Given the description of an element on the screen output the (x, y) to click on. 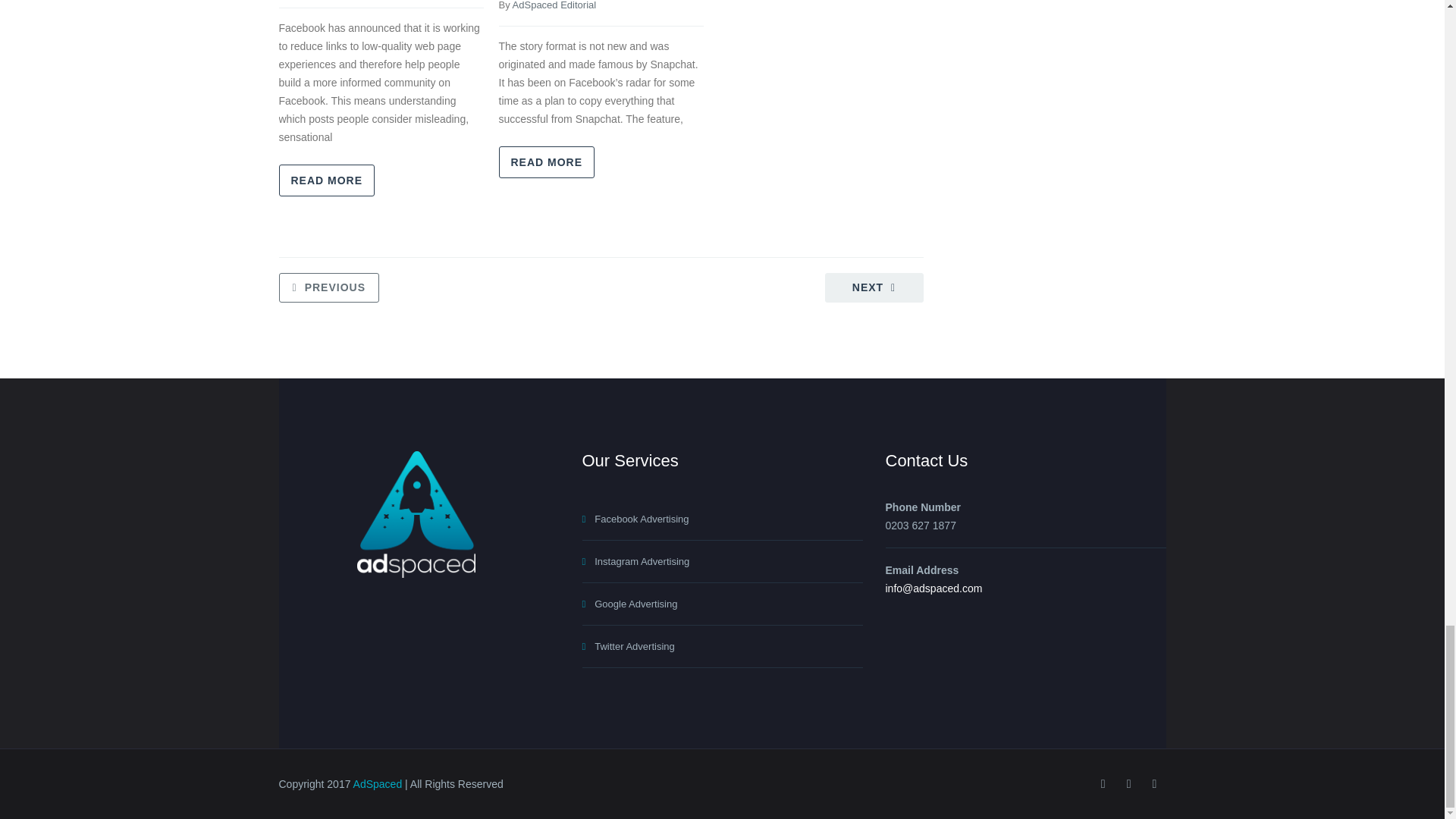
Posts by AdSpaced Editorial (554, 5)
